Given the description of an element on the screen output the (x, y) to click on. 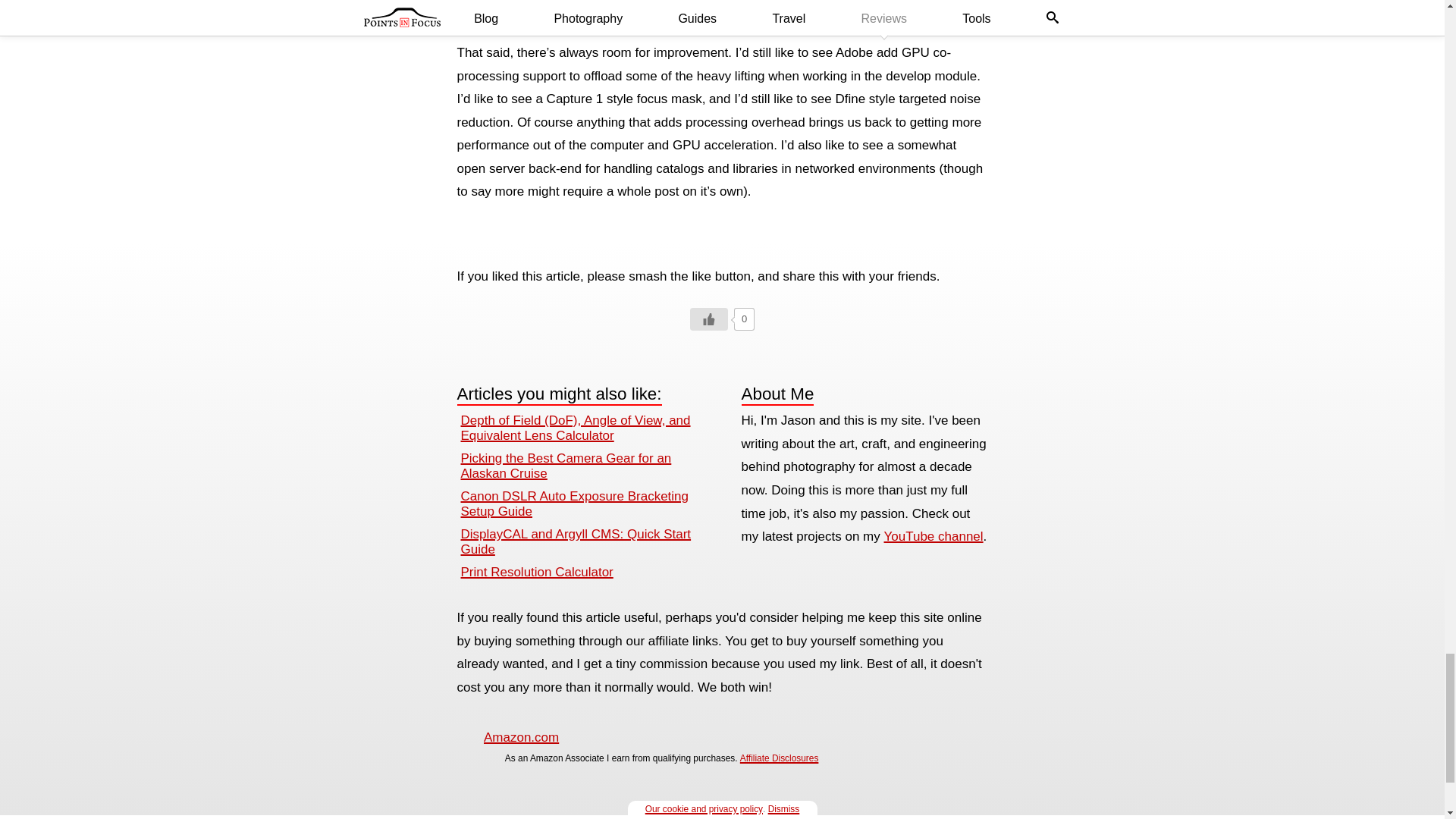
Print Resolution Calcualtor (536, 572)
Picking the best camera gear for an Alaskan Cruise. (566, 465)
Canon Auto Exposure Bracketing COnigruation Guide (574, 503)
Affiliate Disclosures (778, 757)
Canon DSLR Auto Exposure Bracketing Setup Guide (574, 503)
Amazon.com (521, 737)
YouTube channel (933, 536)
Print Resolution Calculator (536, 572)
Picking the Best Camera Gear for an Alaskan Cruise (566, 465)
DisplayCAL and Argyll CMS: Quick Start Guide (576, 541)
DisplayCAL quick start guide. (576, 541)
